Given the description of an element on the screen output the (x, y) to click on. 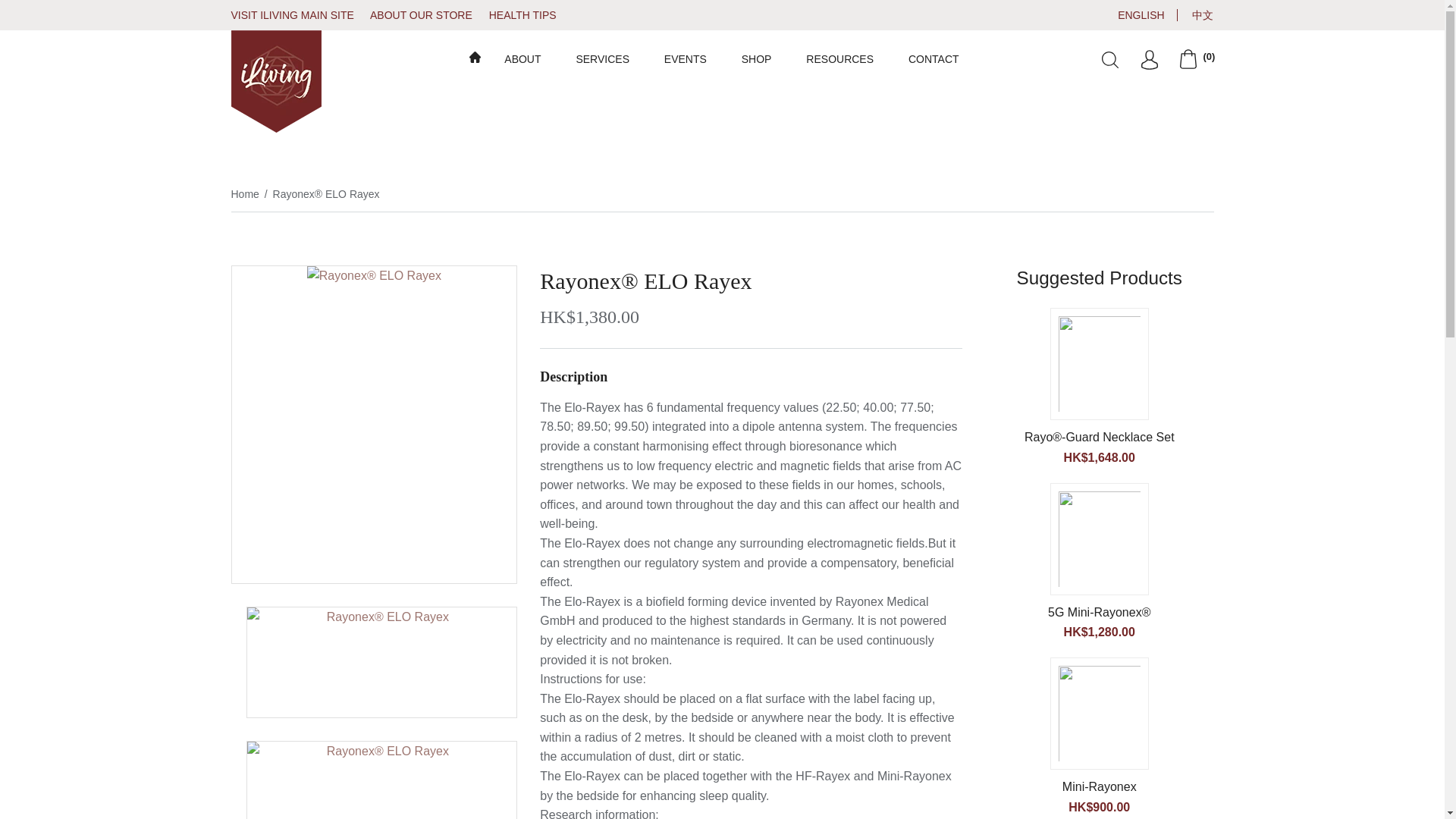
ABOUT (521, 58)
SHOP (756, 58)
HEALTH TIPS (529, 15)
ENGLISH (1134, 15)
SERVICES (602, 58)
EVENTS (684, 58)
ABOUT OUR STORE (427, 15)
VISIT ILIVING MAIN SITE (298, 15)
